Given the description of an element on the screen output the (x, y) to click on. 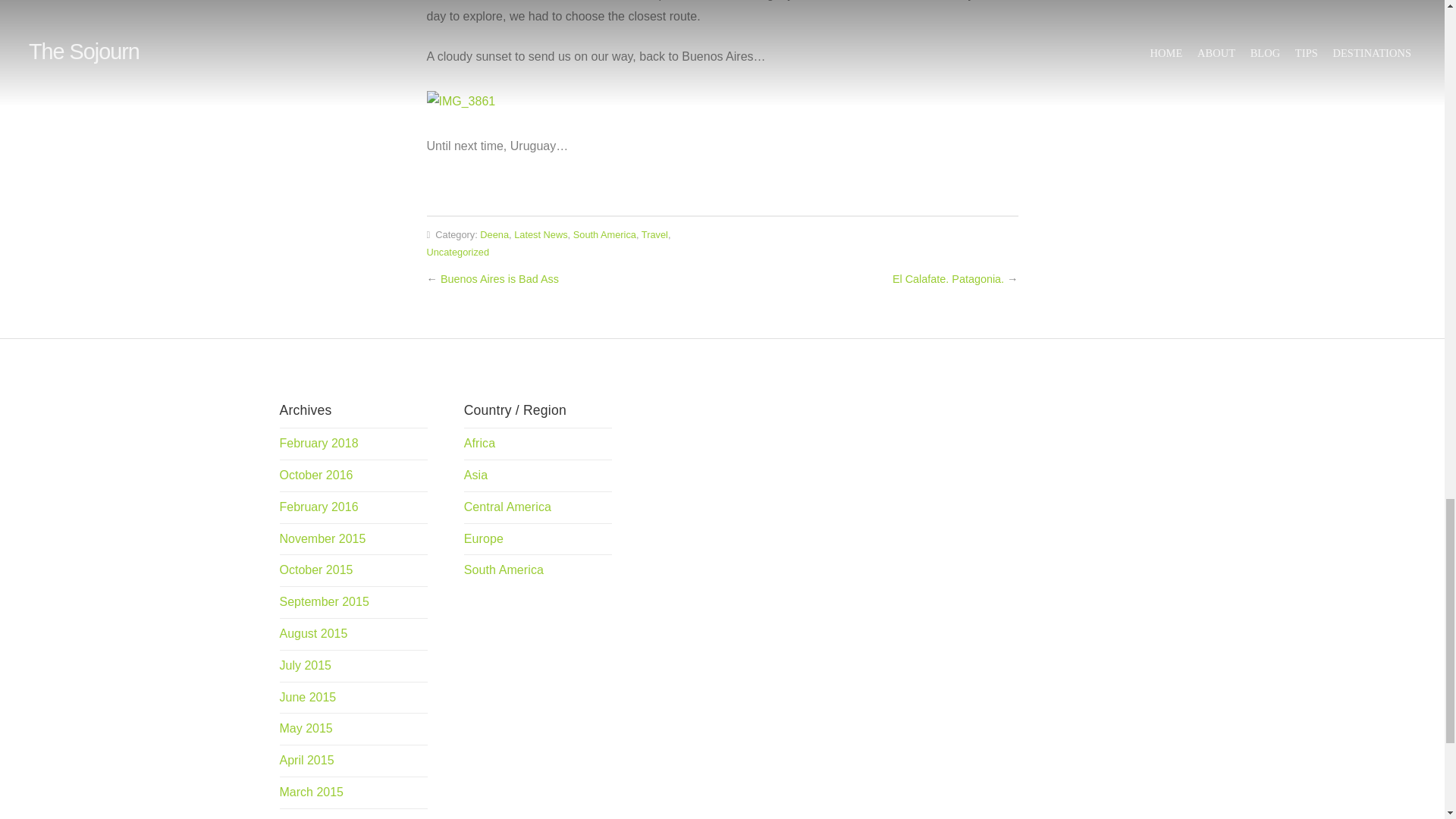
Latest News (540, 234)
Deena (494, 234)
